Given the description of an element on the screen output the (x, y) to click on. 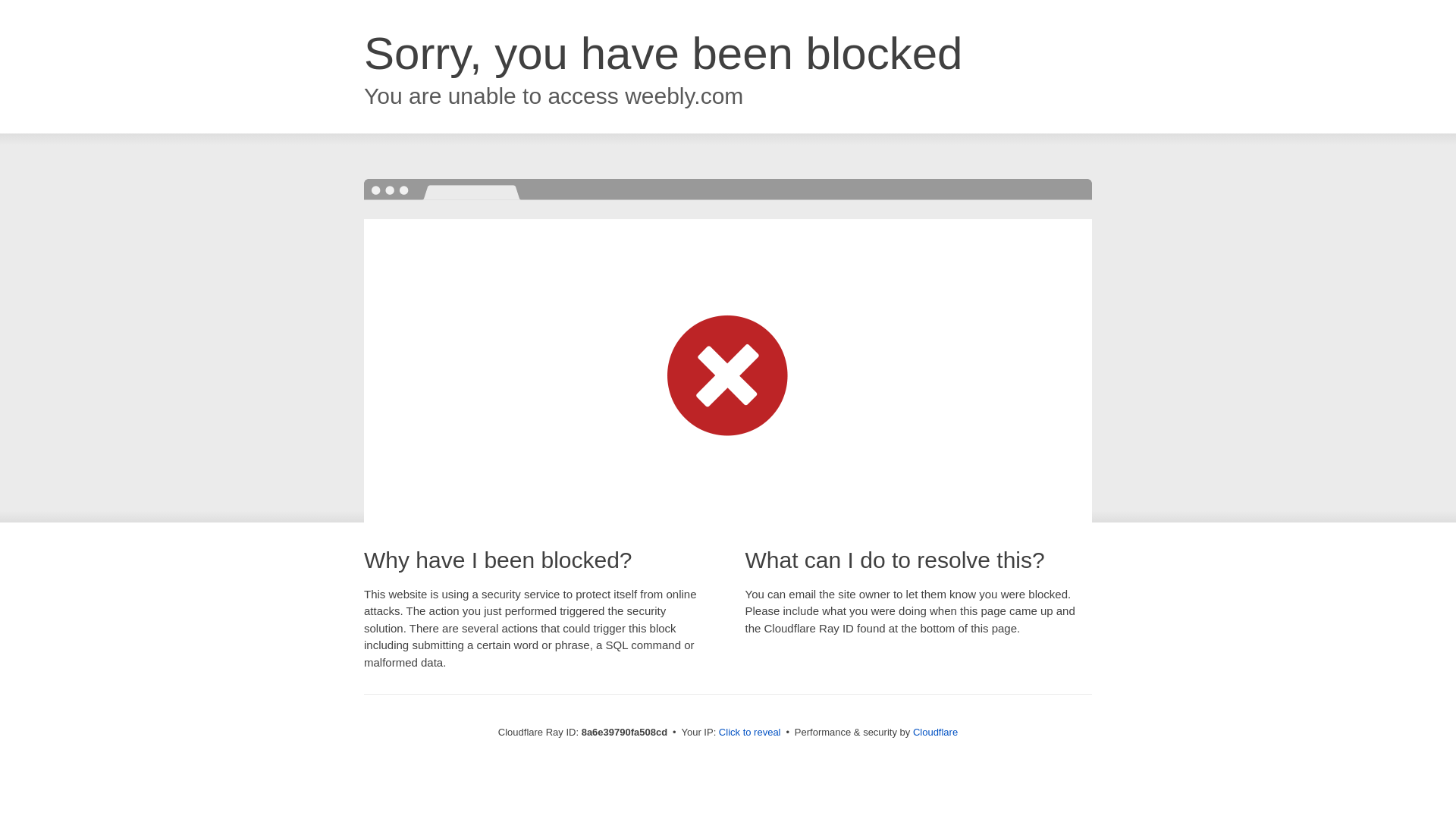
Click to reveal (749, 732)
Cloudflare (935, 731)
